Given the description of an element on the screen output the (x, y) to click on. 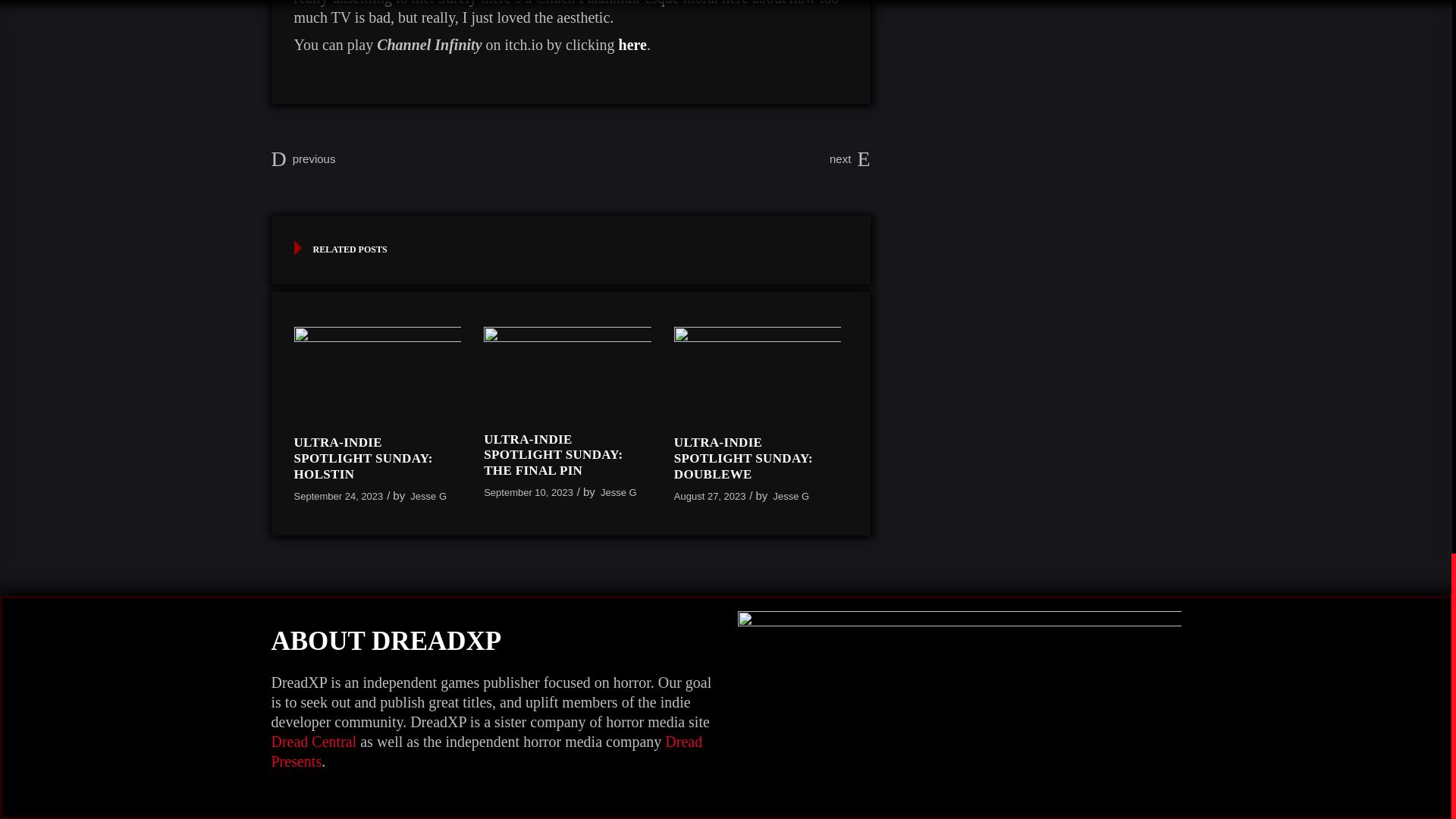
Ultra-Indie Spotlight Sunday: DoubleWe (743, 457)
Ultra-Indie Spotlight Sunday: The Final Pin (566, 371)
Ultra-Indie Spotlight Sunday: Holstin (377, 373)
Ultra-Indie Spotlight Sunday: Holstin (363, 457)
Ultra-Indie Spotlight Sunday: DoubleWe (757, 373)
Ultra-Indie Spotlight Sunday: The Final Pin (553, 455)
